Given the description of an element on the screen output the (x, y) to click on. 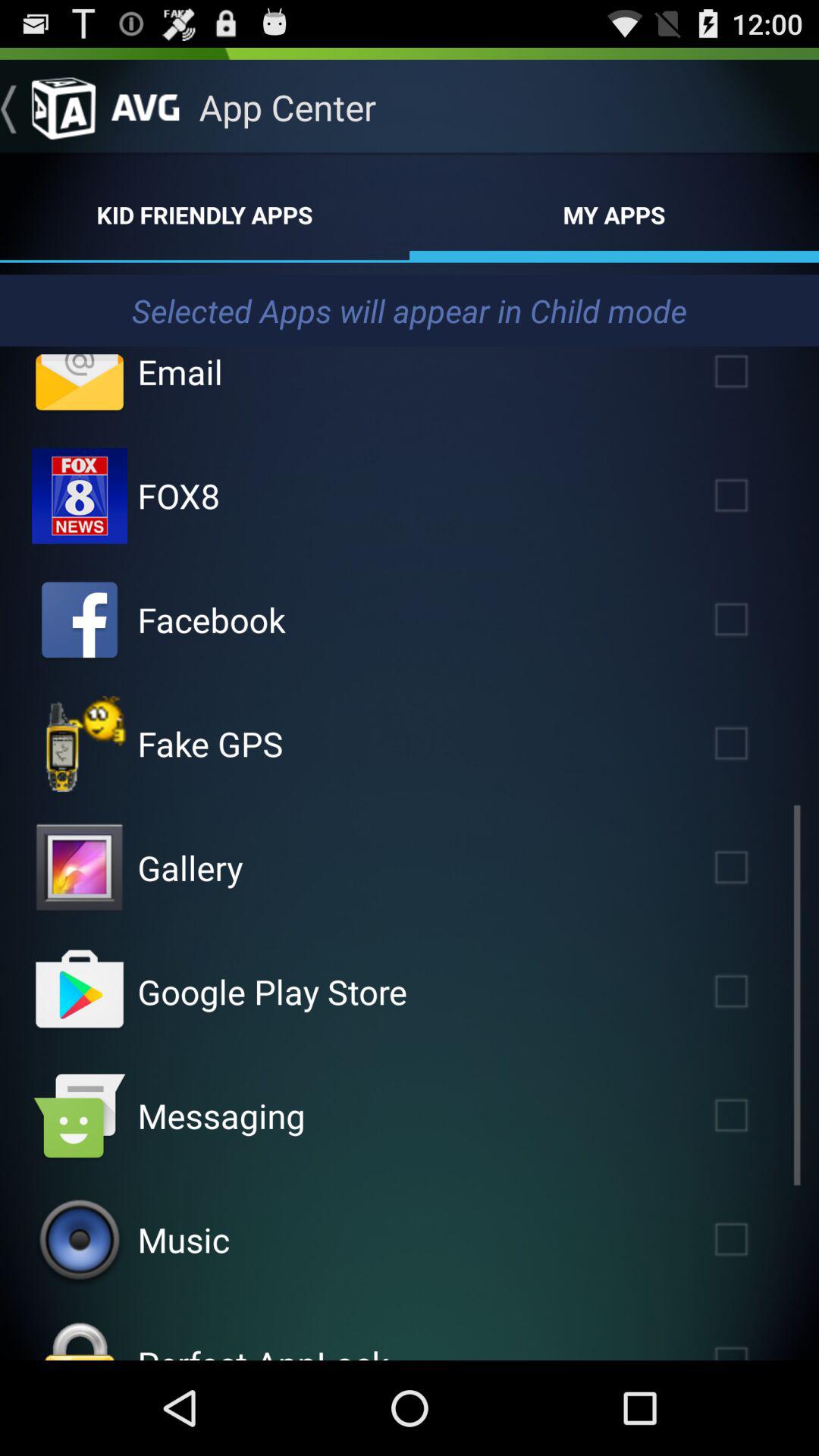
select the gallery (753, 867)
